Given the description of an element on the screen output the (x, y) to click on. 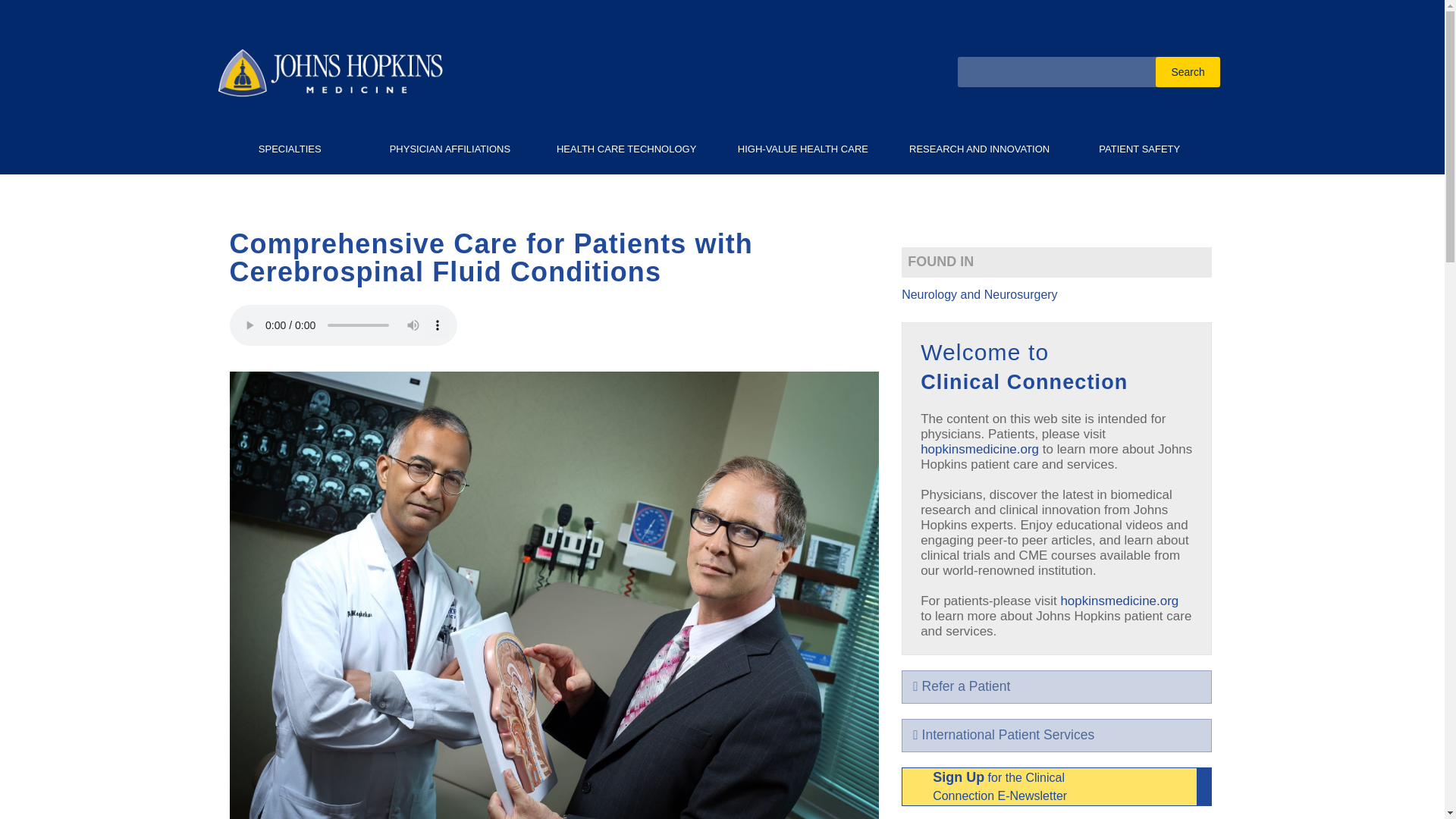
SPECIALTIES (290, 151)
PATIENT SAFETY (1139, 151)
PHYSICIAN AFFILIATIONS (449, 151)
HEALTH CARE TECHNOLOGY (626, 151)
RESEARCH AND INNOVATION (979, 151)
Search (1188, 71)
HIGH-VALUE HEALTH CARE (802, 151)
